Given the description of an element on the screen output the (x, y) to click on. 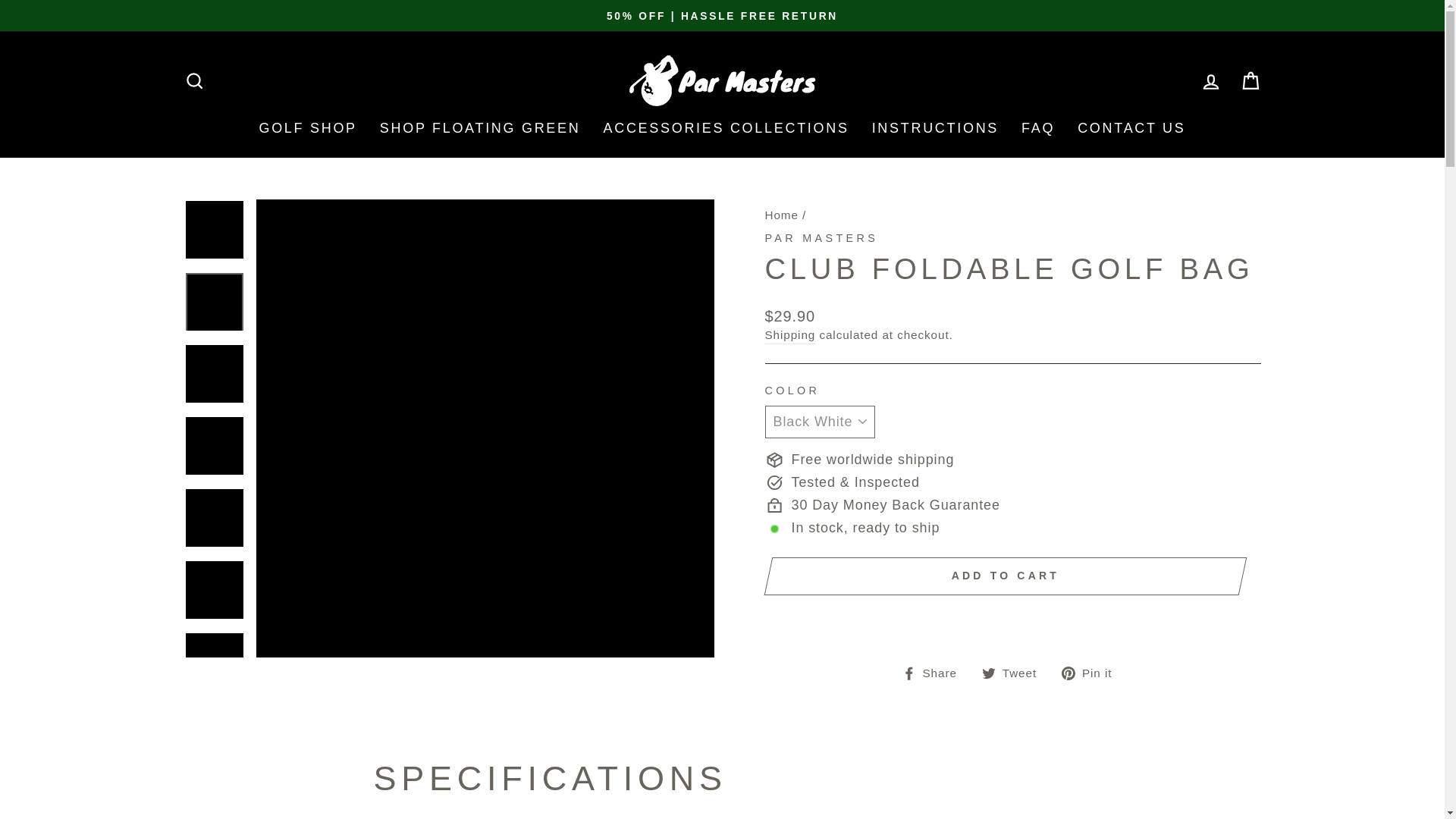
Share on Facebook (935, 672)
Tweet on Twitter (1014, 672)
Back to the frontpage (780, 214)
Par Masters (820, 237)
Pin on Pinterest (1091, 672)
